Given the description of an element on the screen output the (x, y) to click on. 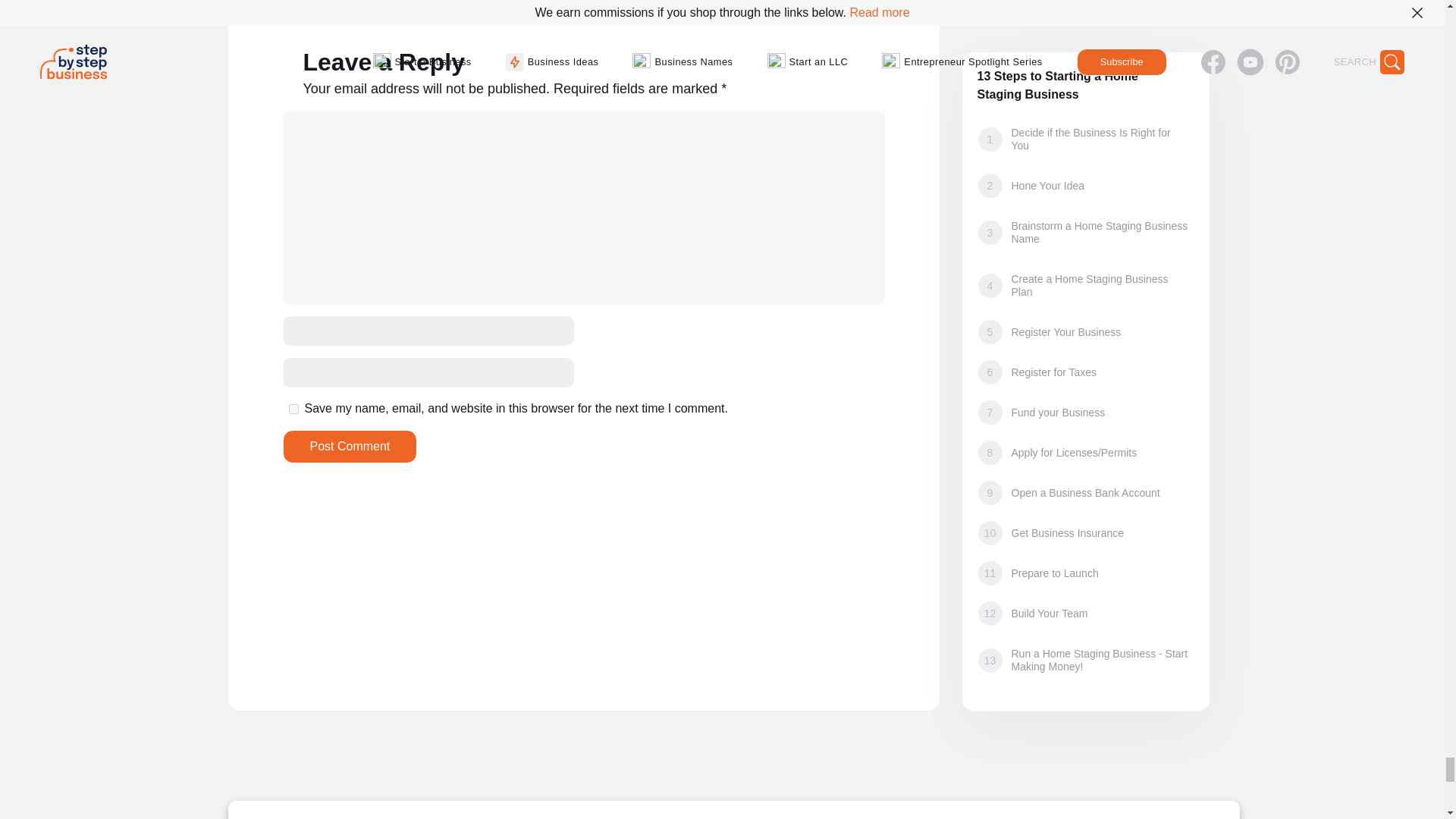
Post Comment (349, 446)
yes (293, 409)
